Given the description of an element on the screen output the (x, y) to click on. 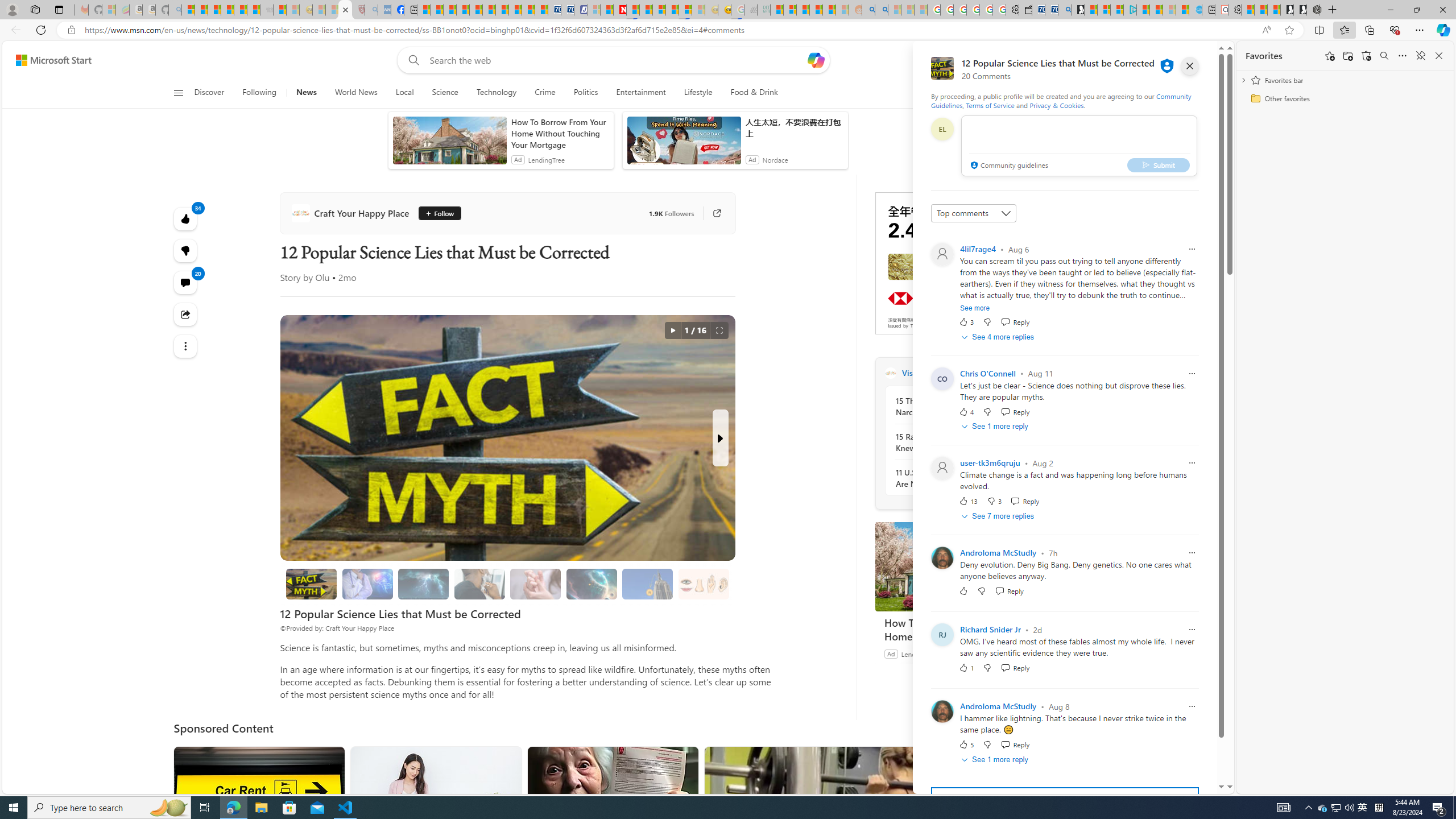
See 1 more reply (995, 759)
4lil7rage4 (977, 248)
